Given the description of an element on the screen output the (x, y) to click on. 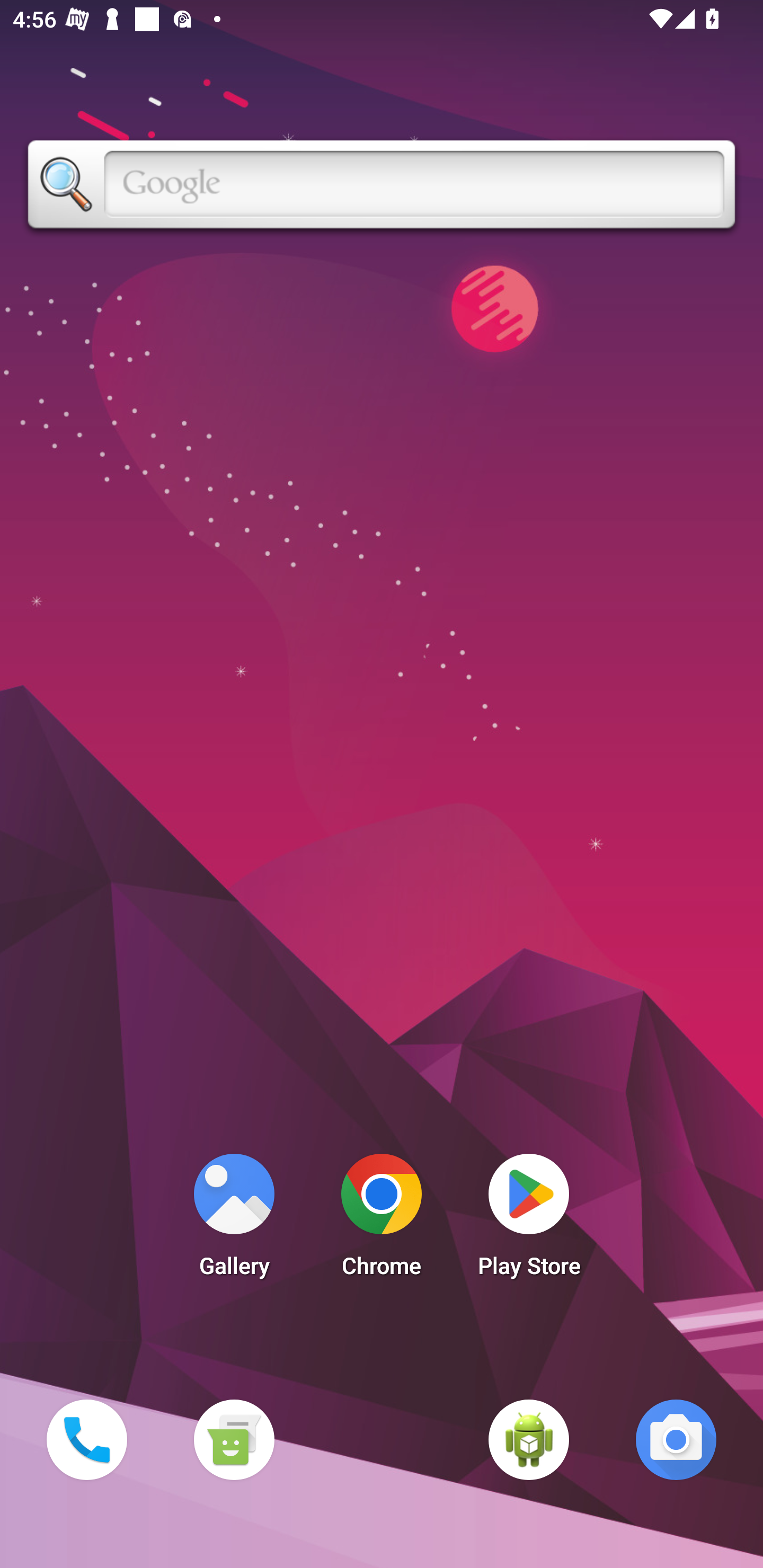
Gallery (233, 1220)
Chrome (381, 1220)
Play Store (528, 1220)
Phone (86, 1439)
Messaging (233, 1439)
WebView Browser Tester (528, 1439)
Camera (676, 1439)
